Given the description of an element on the screen output the (x, y) to click on. 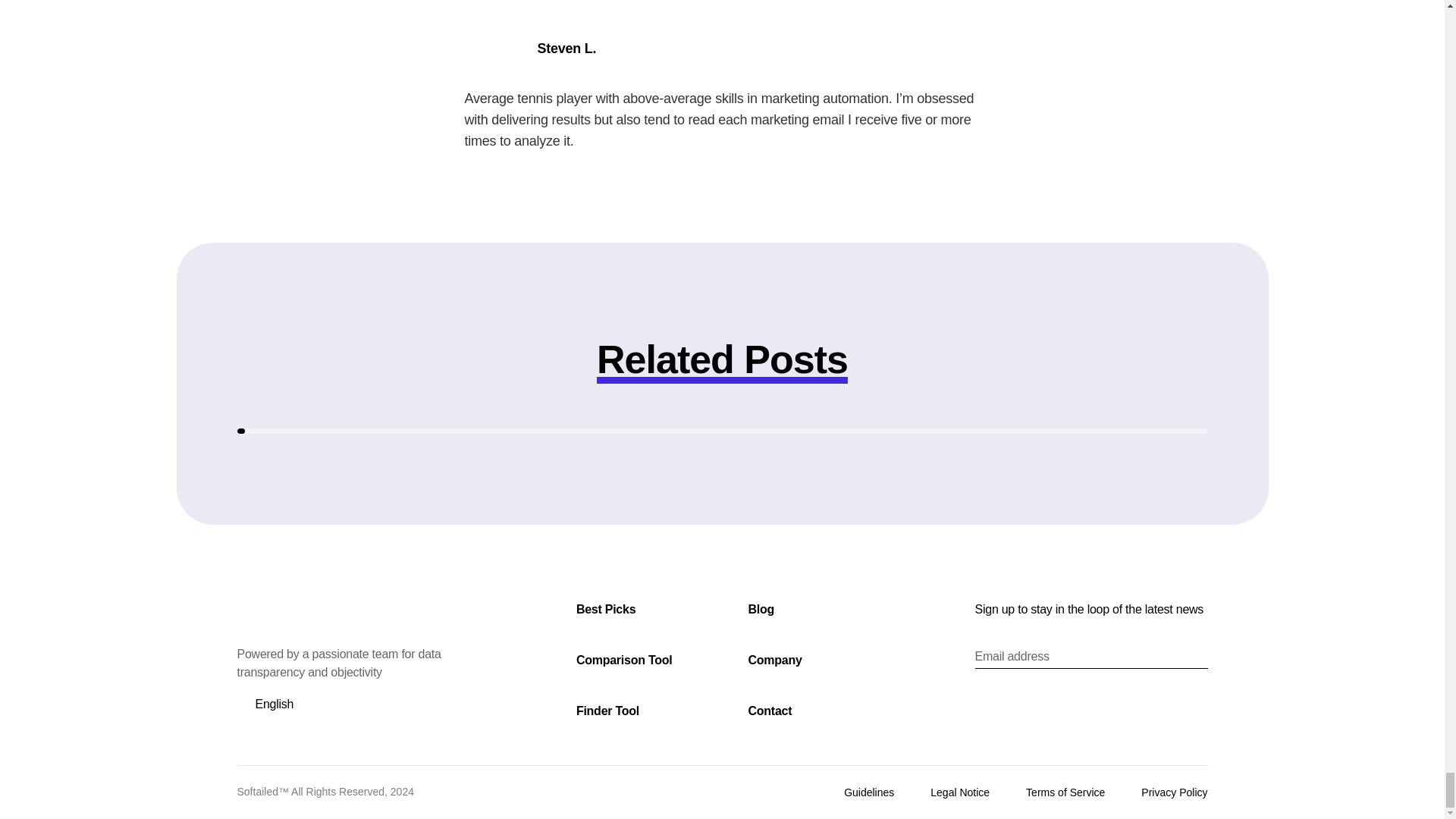
Steven L. (566, 47)
